Given the description of an element on the screen output the (x, y) to click on. 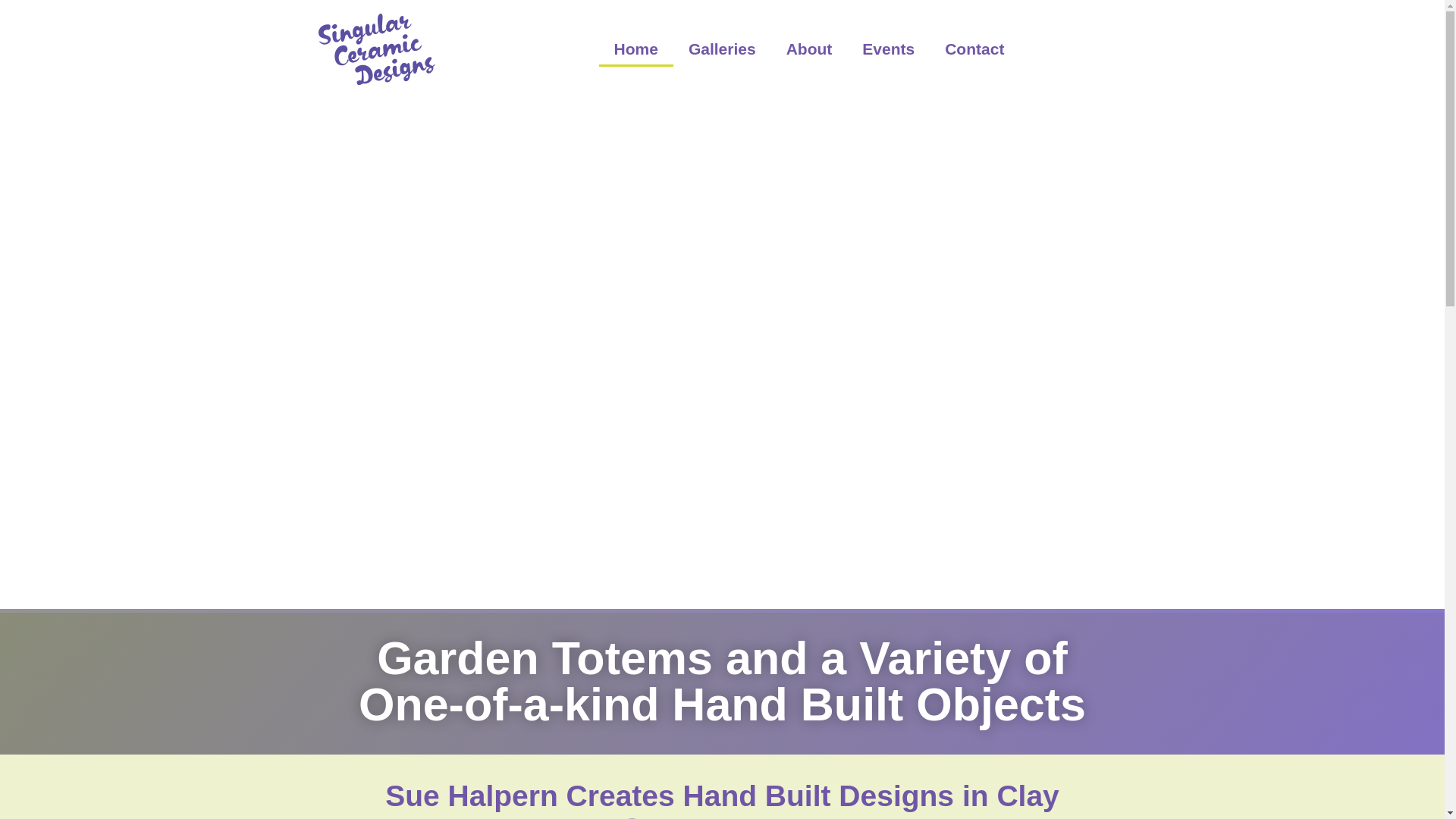
Home (635, 48)
Events (888, 48)
About (809, 48)
Galleries (721, 48)
Contact (974, 48)
